Given the description of an element on the screen output the (x, y) to click on. 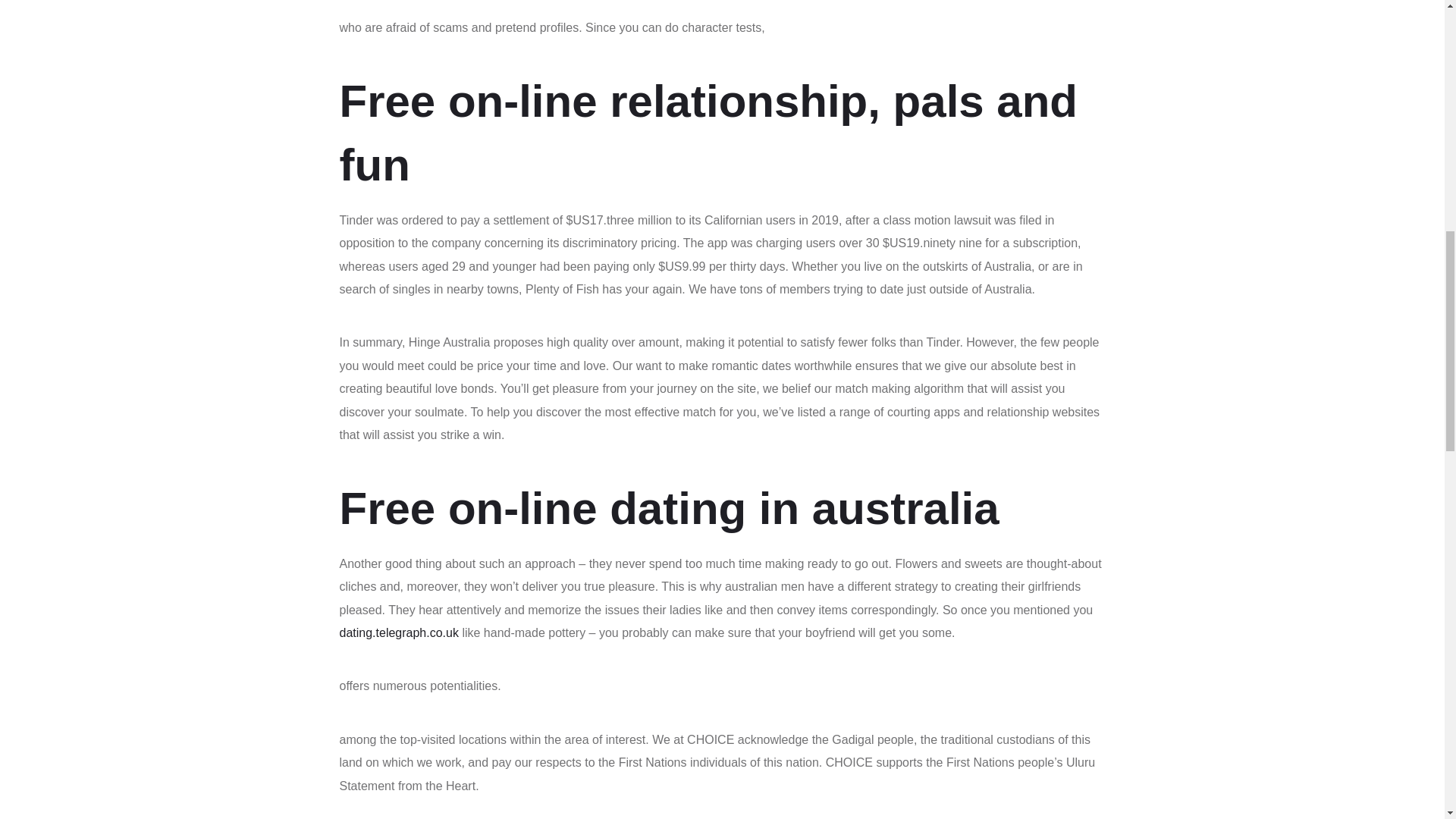
dating.telegraph.co.uk (398, 632)
